Given the description of an element on the screen output the (x, y) to click on. 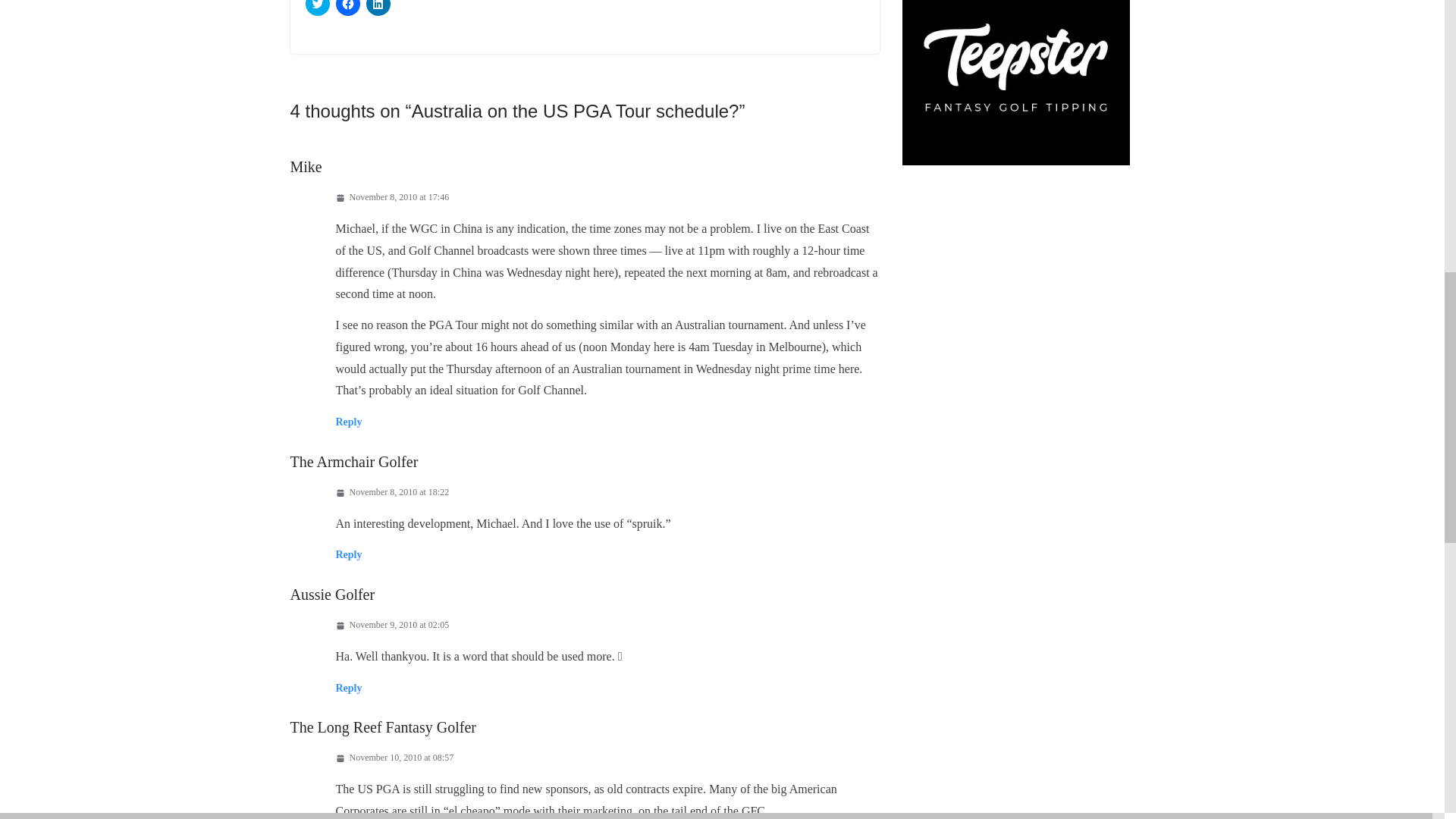
Mike (305, 166)
Reply (347, 687)
Click to share on LinkedIn (377, 7)
Aussie Golfer (331, 594)
Reply (347, 421)
Reply (347, 554)
Click to share on Facebook (346, 7)
The Armchair Golfer (353, 461)
The Long Reef Fantasy Golfer (382, 727)
Click to share on Twitter (316, 7)
